Given the description of an element on the screen output the (x, y) to click on. 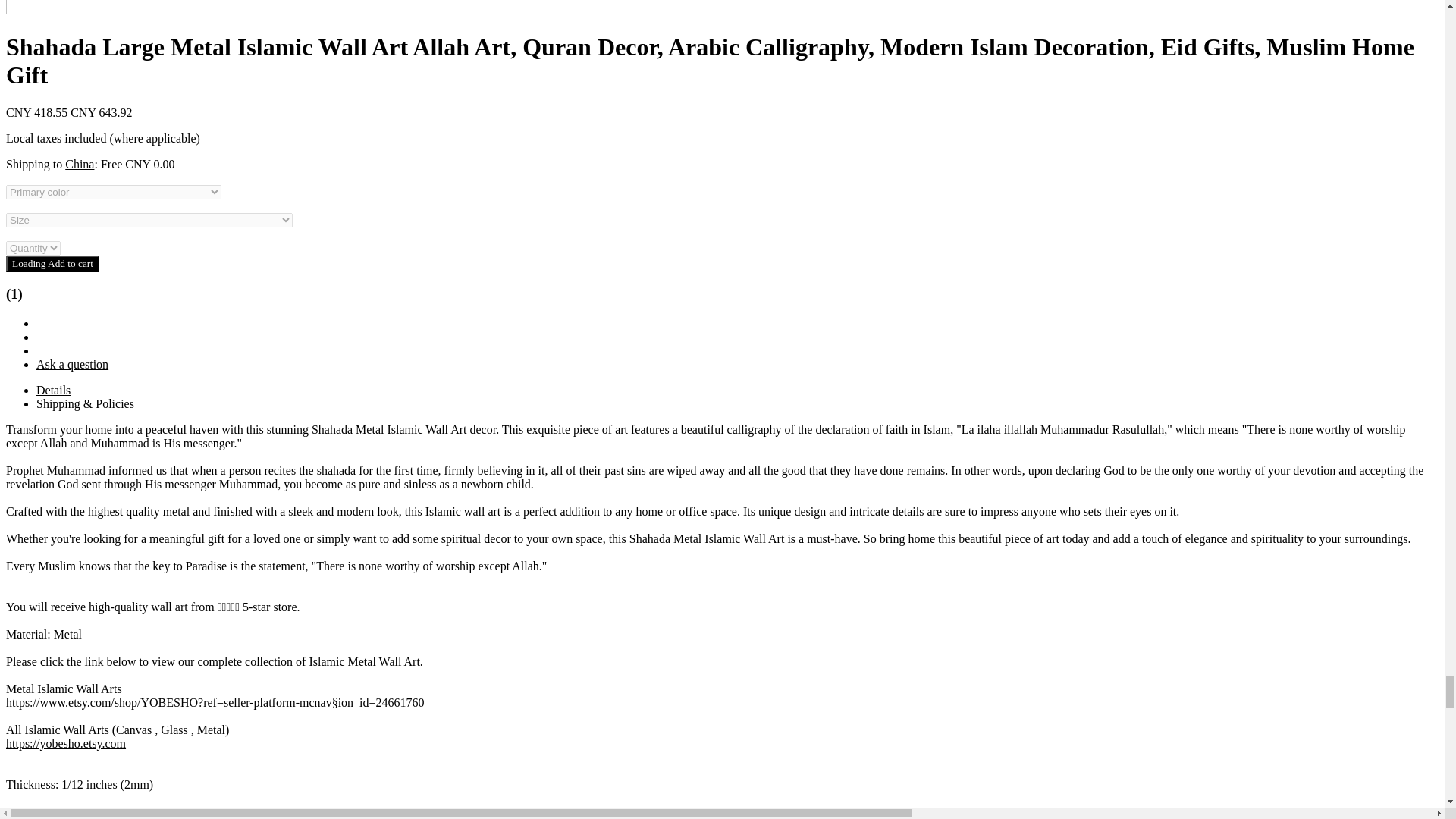
China (79, 164)
Details (52, 390)
Ask a question (71, 364)
Loading Add to cart (52, 263)
